Given the description of an element on the screen output the (x, y) to click on. 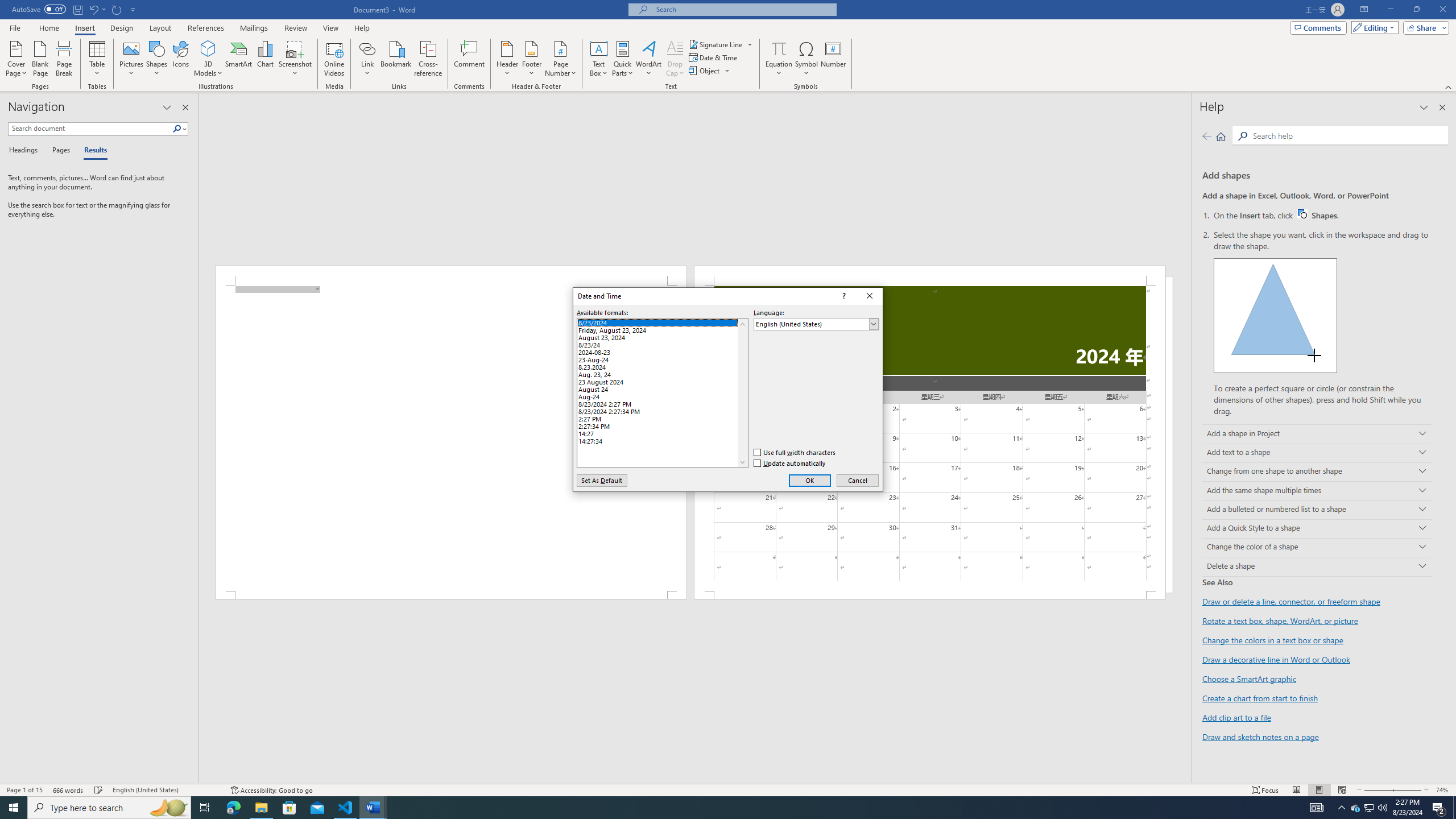
Blank Page (40, 58)
3D Models (208, 48)
Use full width characters (795, 452)
User Promoted Notification Area (1368, 807)
Shapes (156, 58)
Link (367, 48)
Type here to search (108, 807)
Icons (180, 58)
14:27:34 (662, 439)
14:27 (662, 432)
Undo New Page (96, 9)
